Given the description of an element on the screen output the (x, y) to click on. 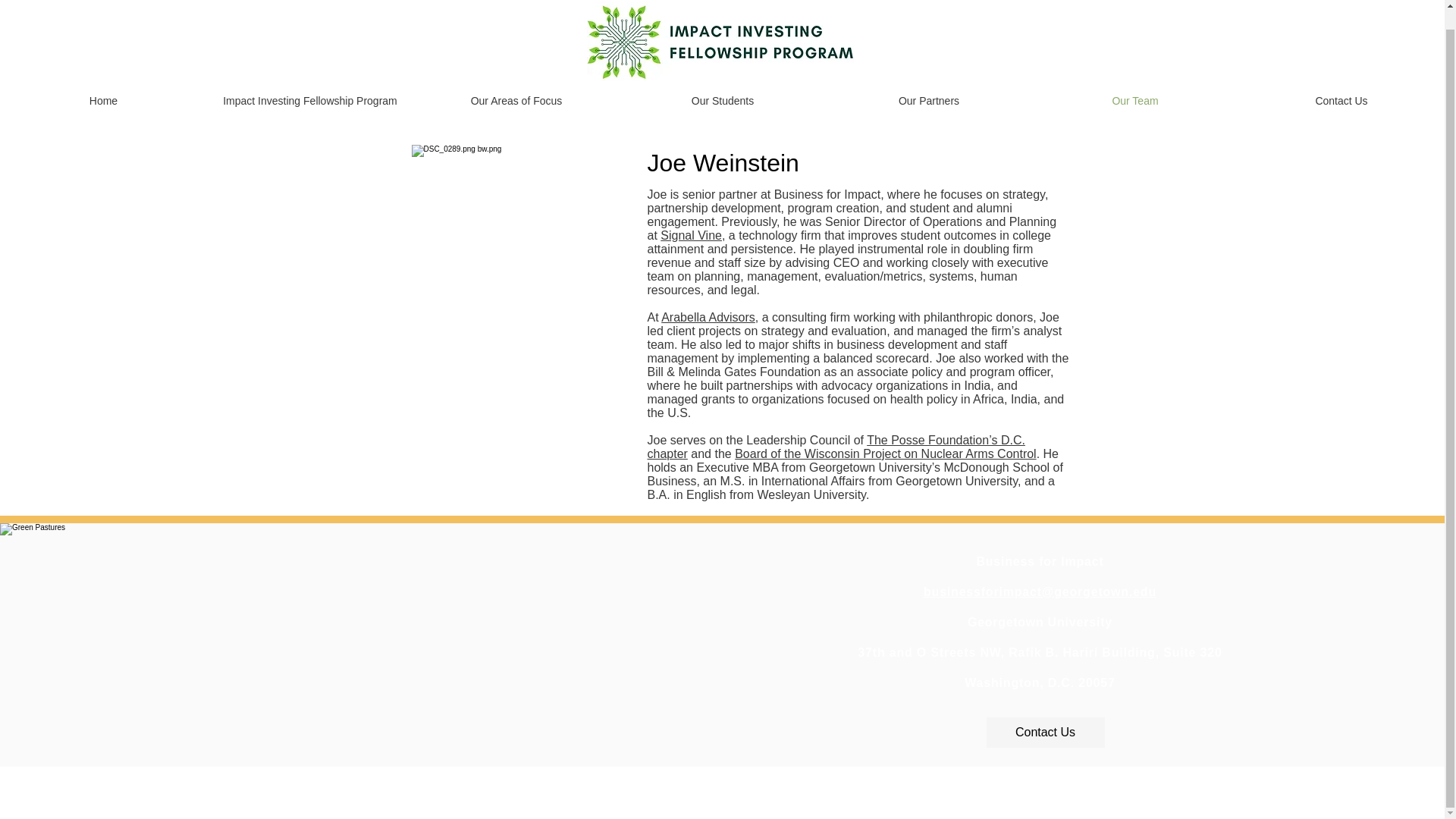
Contact Us (1044, 732)
Arabella Advisors (708, 317)
Our Areas of Focus (516, 82)
Impact Investing Fellowship Program (309, 82)
Signal Vine (691, 235)
Our Students (722, 82)
Board of the Wisconsin Project on Nuclear Arms Control (885, 453)
Home (103, 82)
Our Team (1135, 82)
Our Partners (928, 82)
